Given the description of an element on the screen output the (x, y) to click on. 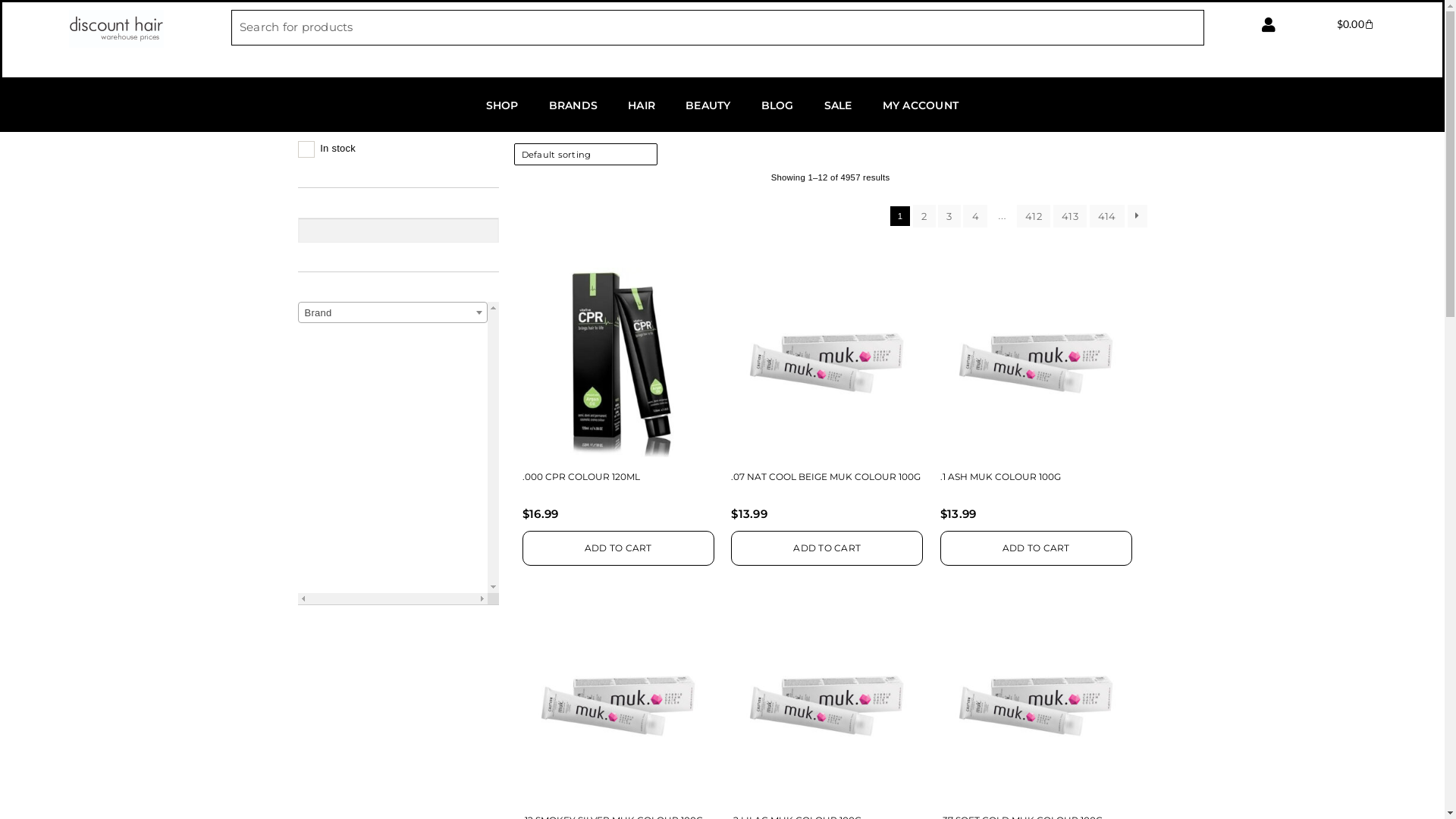
414 Element type: text (1107, 215)
ADD TO CART Element type: text (826, 547)
413 Element type: text (1070, 215)
4 Element type: text (975, 215)
ADD TO CART Element type: text (1036, 547)
BRANDS Element type: text (573, 104)
.000 CPR COLOUR 120ML
$16.99 Element type: text (618, 399)
$0.00 Element type: text (1355, 23)
.1 ASH MUK COLOUR 100G
$13.99 Element type: text (1036, 399)
2 Element type: text (924, 215)
SHOP Element type: text (501, 104)
BLOG Element type: text (777, 104)
3 Element type: text (949, 215)
SALE Element type: text (838, 104)
412 Element type: text (1033, 215)
HAIR Element type: text (641, 104)
.07 NAT COOL BEIGE MUK COLOUR 100G
$13.99 Element type: text (826, 399)
ADD TO CART Element type: text (618, 547)
BEAUTY Element type: text (708, 104)
MY ACCOUNT Element type: text (920, 104)
